Given the description of an element on the screen output the (x, y) to click on. 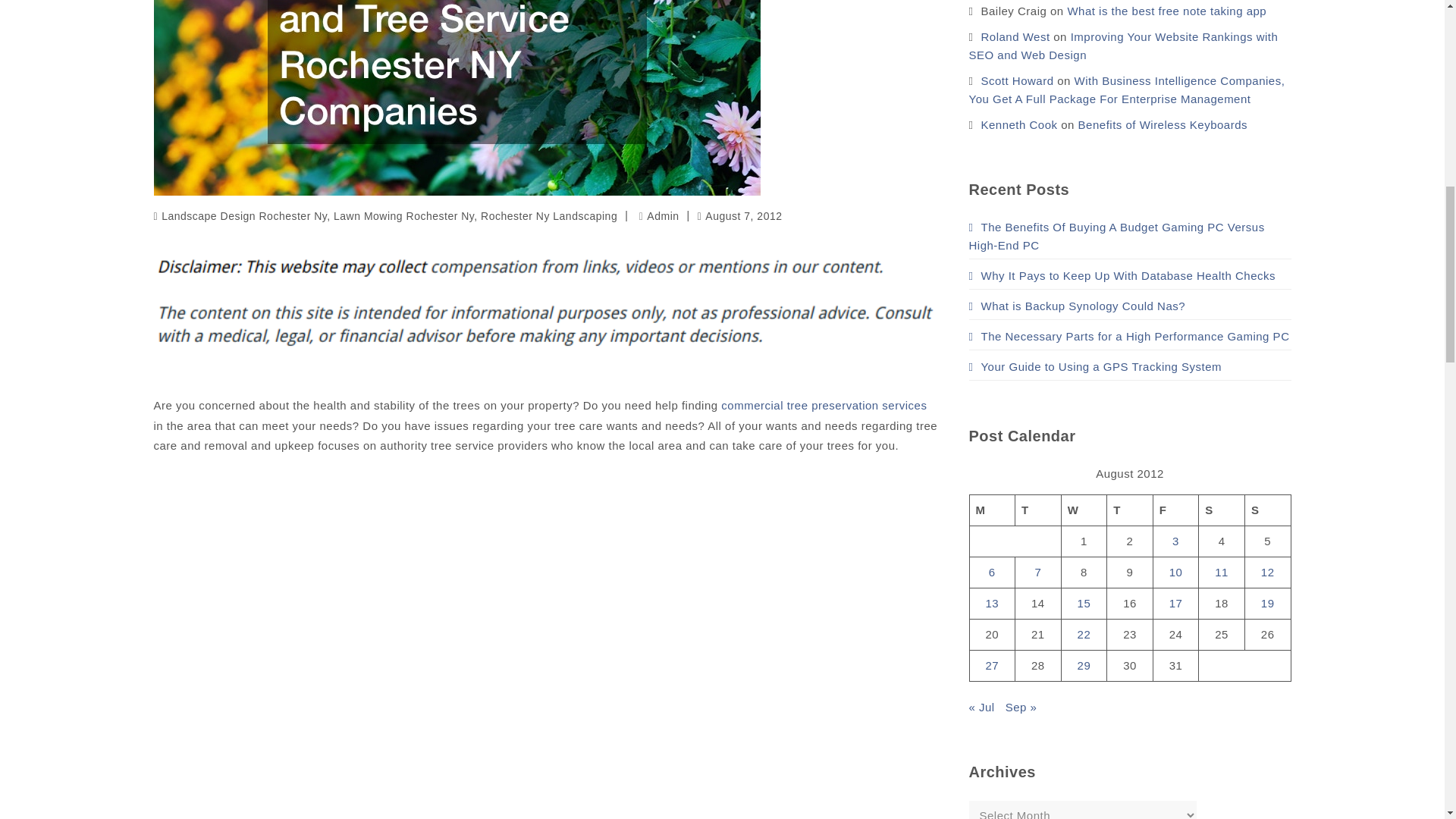
Roland West (1014, 36)
10 (1175, 571)
Admin (659, 215)
What is Backup Synology Could Nas? (1077, 305)
12 (1267, 571)
Kenneth Cook (1018, 124)
13 (991, 602)
Benefits of Wireless Keyboards (1162, 124)
Your Guide to Using a GPS Tracking System (1096, 365)
11 (1221, 571)
Thursday (1129, 509)
Wednesday (1083, 509)
Lawn Mowing Rochester Ny (403, 215)
Rochester Ny Landscaping (548, 215)
